Given the description of an element on the screen output the (x, y) to click on. 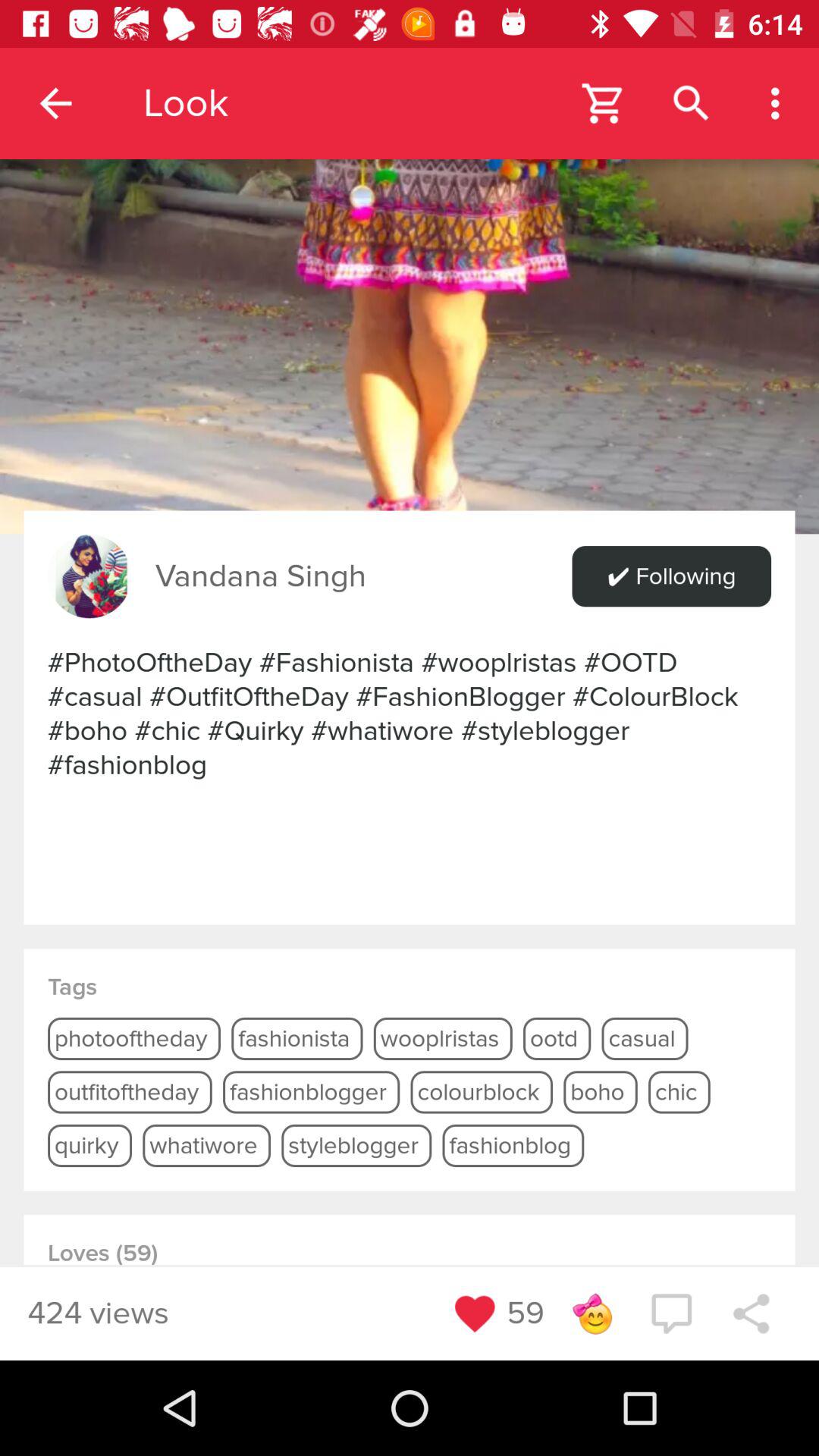
this button to activate the like (474, 1313)
